Given the description of an element on the screen output the (x, y) to click on. 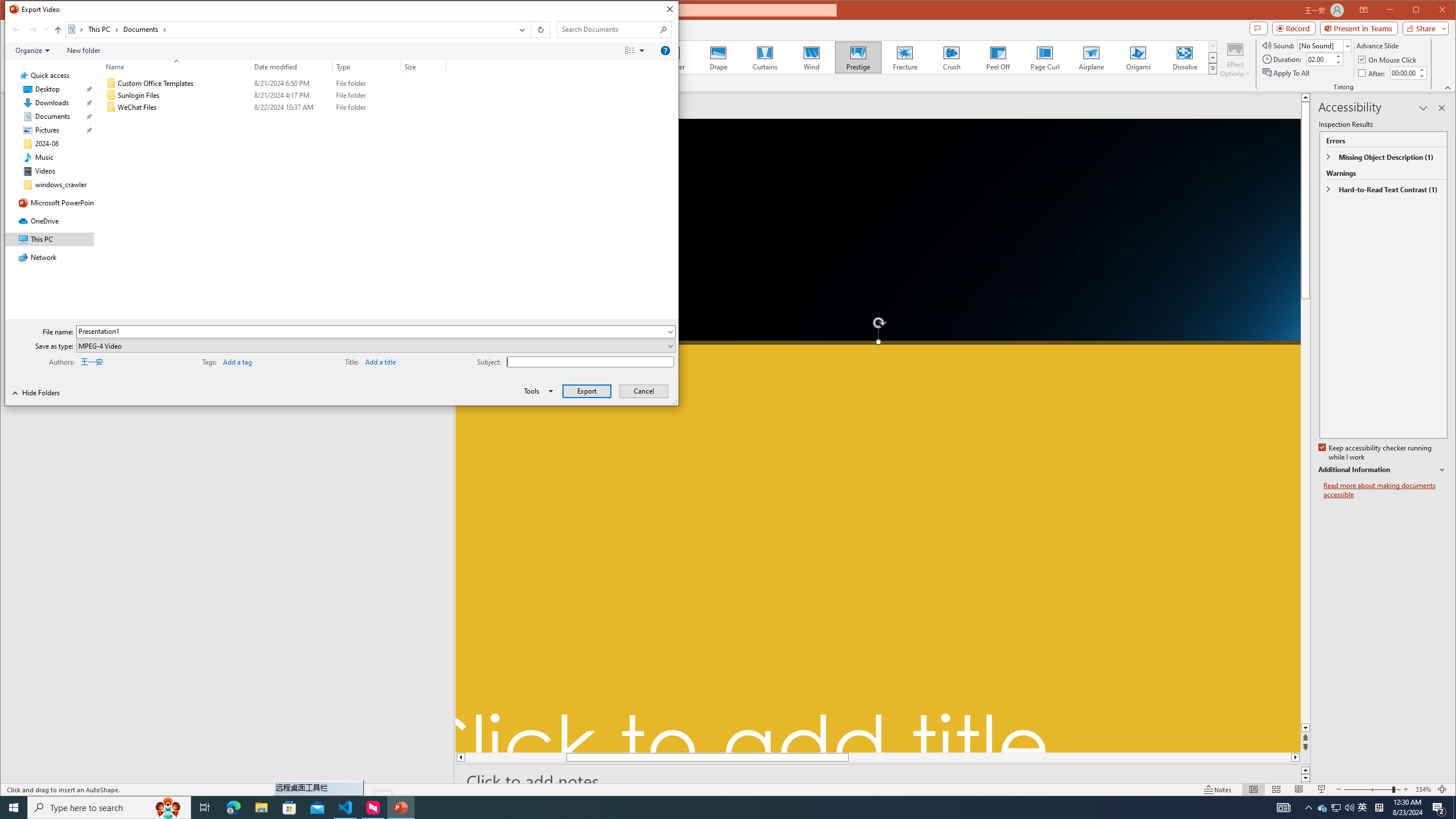
All locations (75, 29)
Title (400, 361)
View Slider (642, 50)
Type (366, 66)
Refresh "Documents" (F5) (538, 29)
Name (183, 107)
Back (Alt + Left Arrow) (15, 29)
Type (366, 107)
